Given the description of an element on the screen output the (x, y) to click on. 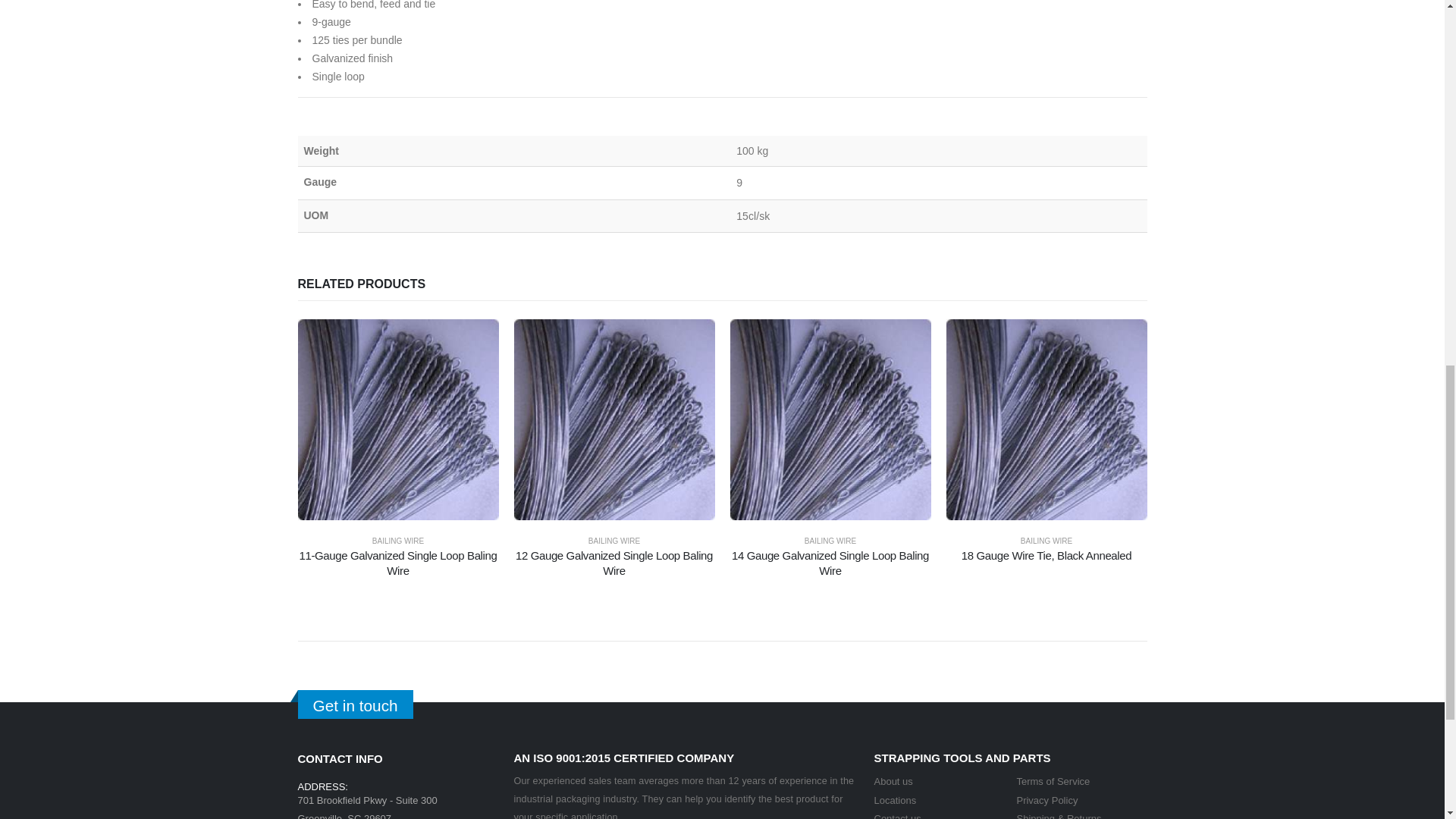
Contact us (896, 816)
Locations (894, 799)
About us (892, 781)
